Given the description of an element on the screen output the (x, y) to click on. 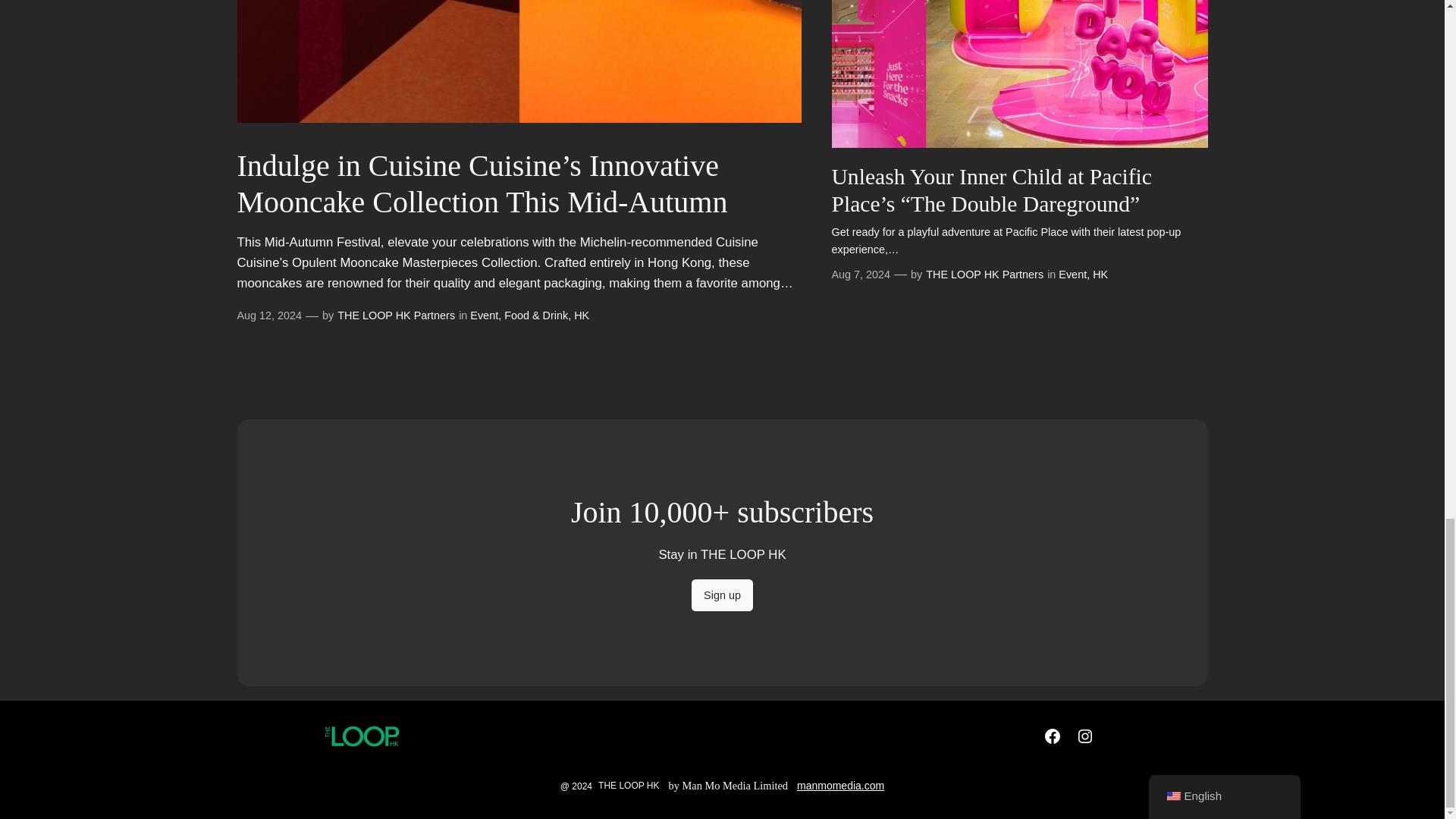
Facebook (1052, 736)
THE LOOP HK Partners (984, 274)
Sign up (721, 594)
HK (581, 315)
HK (1100, 274)
THE LOOP HK Partners (395, 315)
Aug 7, 2024 (860, 274)
Event (483, 315)
Aug 12, 2024 (268, 315)
Event (1072, 274)
